Given the description of an element on the screen output the (x, y) to click on. 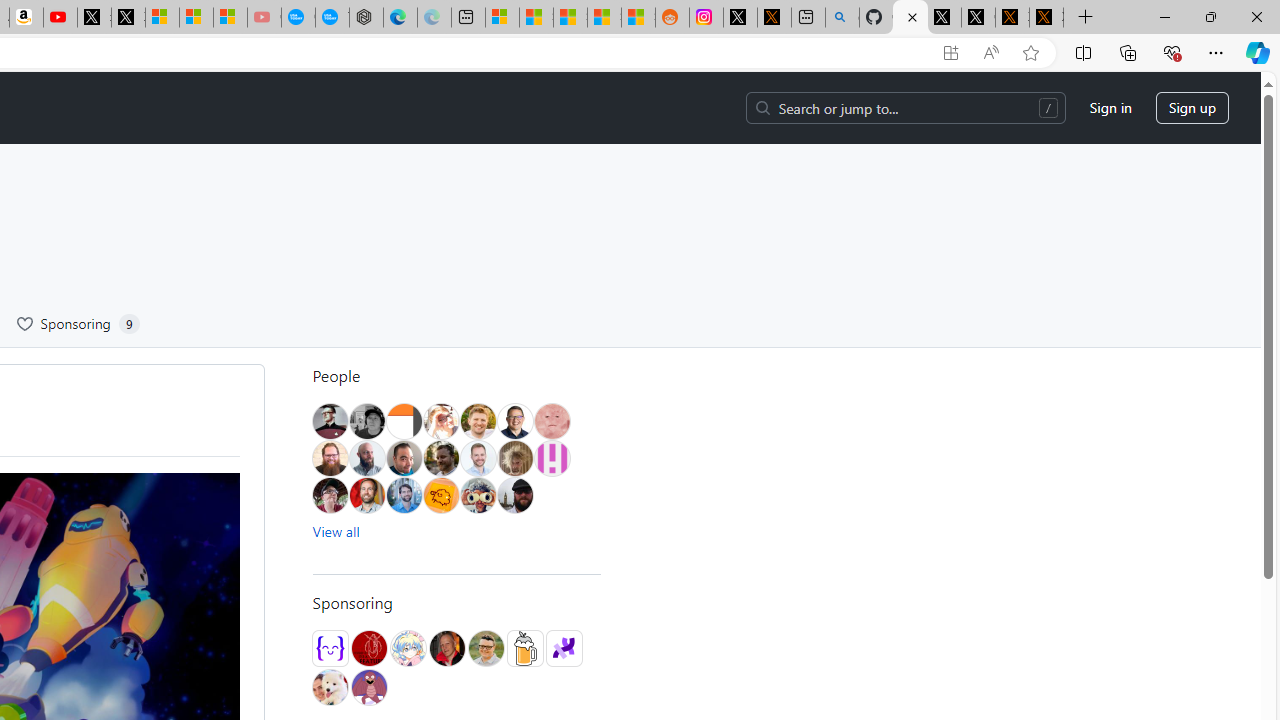
People (456, 376)
@its-a-feature (368, 648)
@omgitsads (440, 457)
Sponsoring9 (77, 323)
@tannerlinsley (486, 648)
@rubiojr (477, 495)
@zerowidth (367, 457)
@matthewd (404, 421)
